Given the description of an element on the screen output the (x, y) to click on. 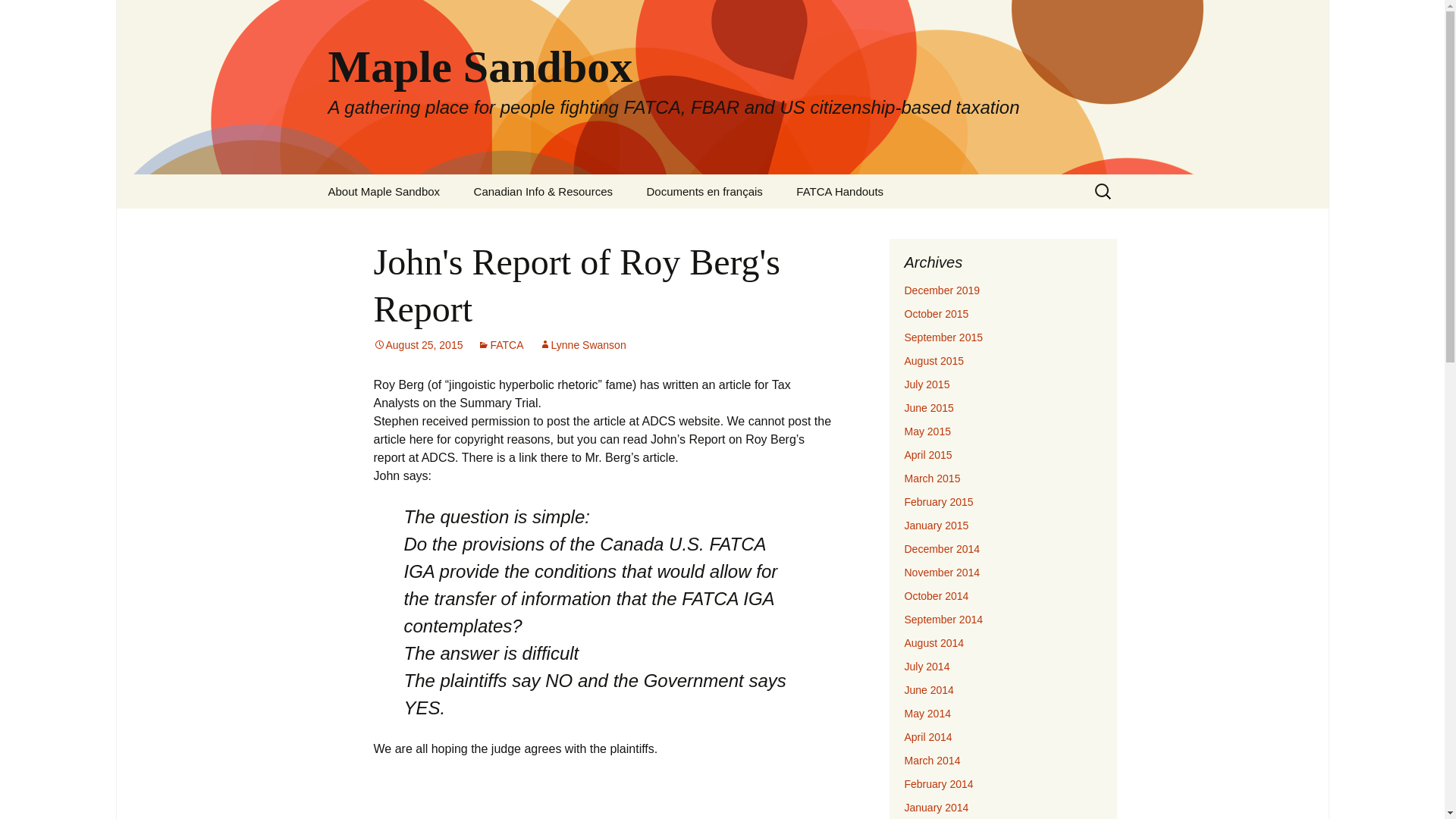
December 2014 (941, 548)
January 2015 (936, 525)
May 2014 (927, 713)
June 2014 (928, 689)
April 2014 (928, 736)
March 2014 (931, 760)
February 2014 (938, 784)
March 2015 (931, 478)
July 2015 (926, 384)
May 2015 (927, 431)
October 2015 (936, 313)
August 2014 (933, 643)
View all posts by Lynne Swanson (582, 345)
June 2015 (928, 408)
